Given the description of an element on the screen output the (x, y) to click on. 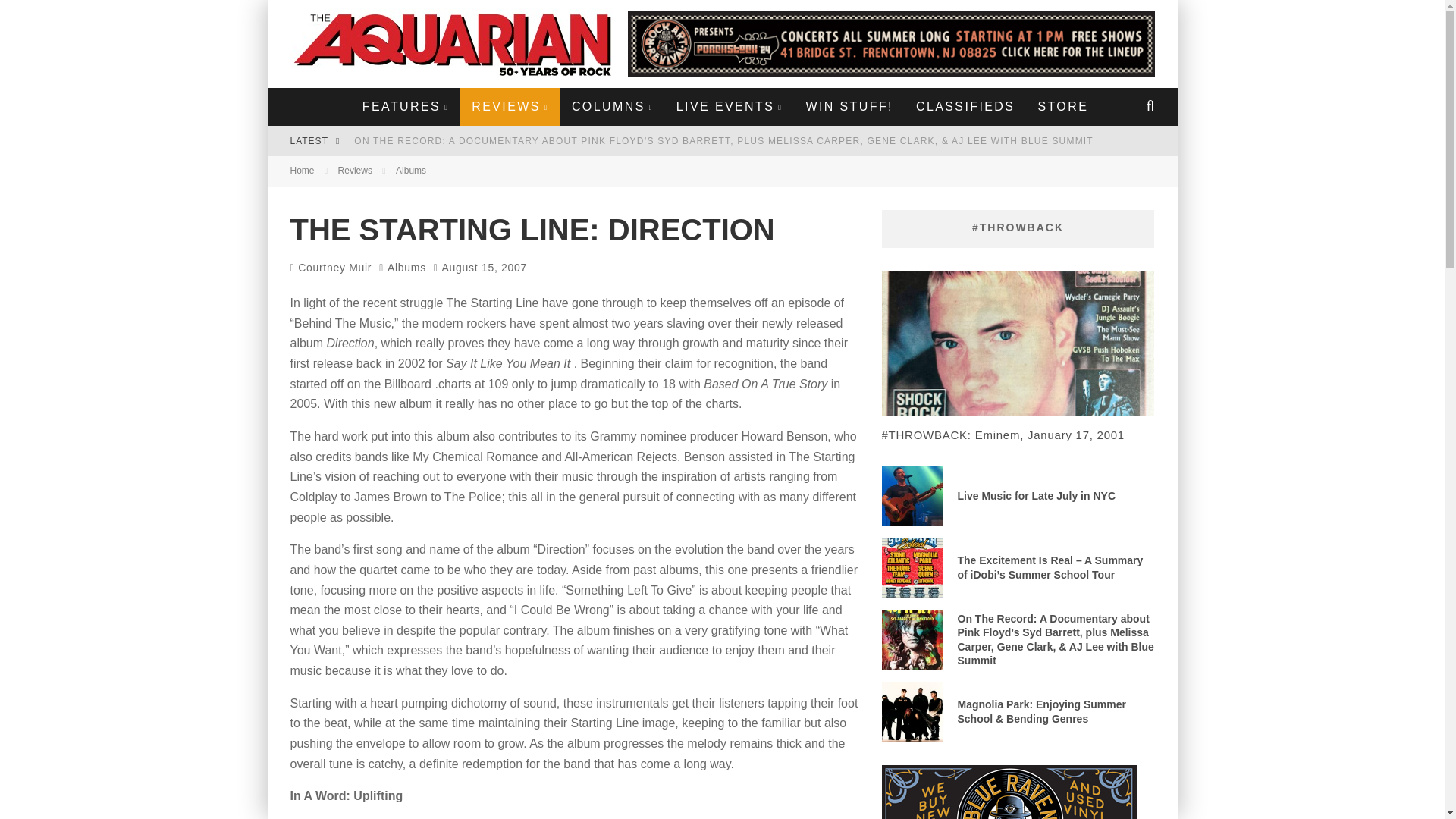
REVIEWS (510, 106)
COLUMNS (612, 106)
FEATURES (405, 106)
